Given the description of an element on the screen output the (x, y) to click on. 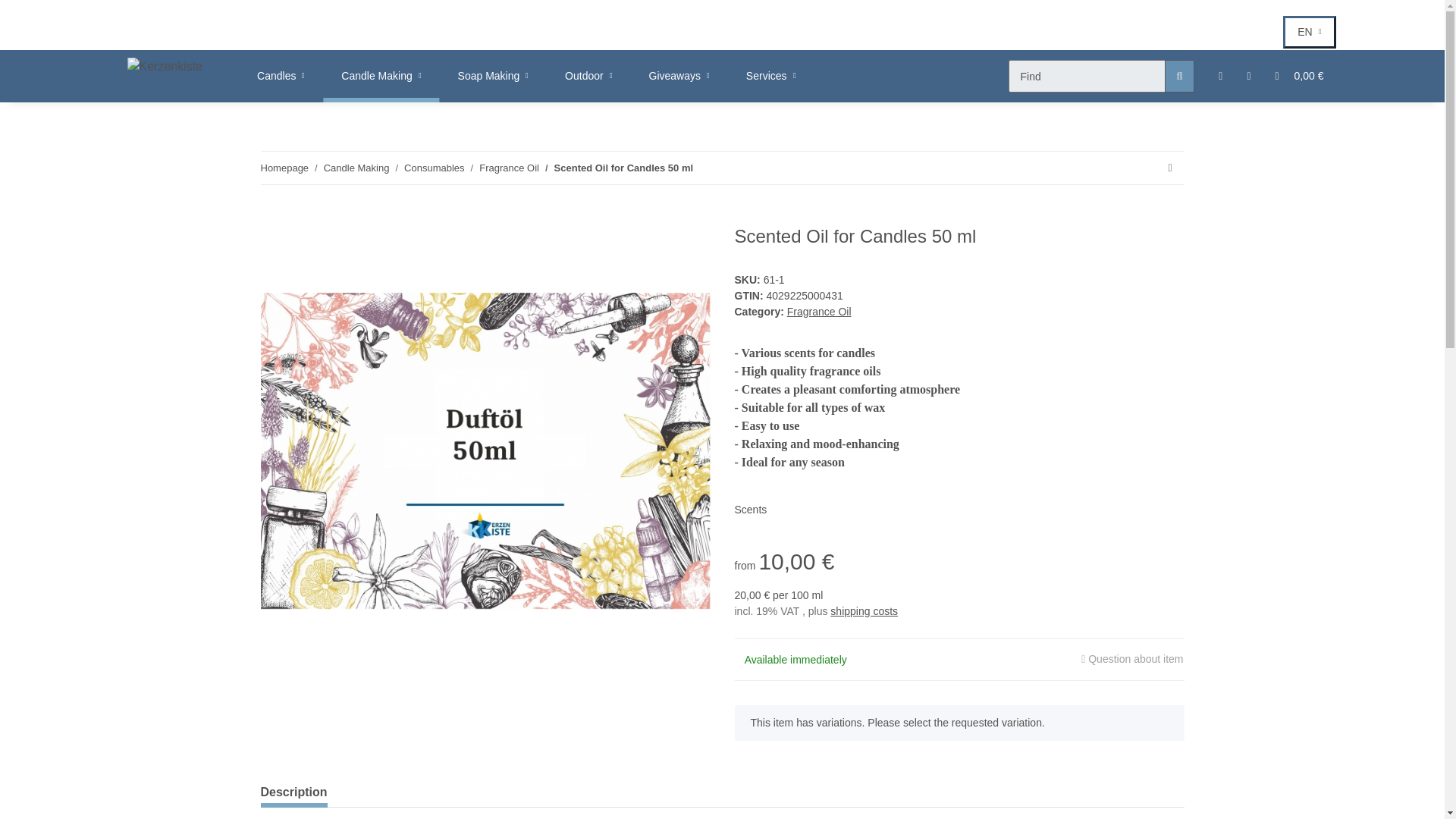
Giveaways (616, 75)
Kerzenkiste (679, 75)
Fragrance Oil (165, 66)
Outdoor (508, 168)
Candles (588, 75)
Giveaways (280, 75)
EN (679, 75)
Homepage (1309, 31)
Candle Making (284, 168)
